Given the description of an element on the screen output the (x, y) to click on. 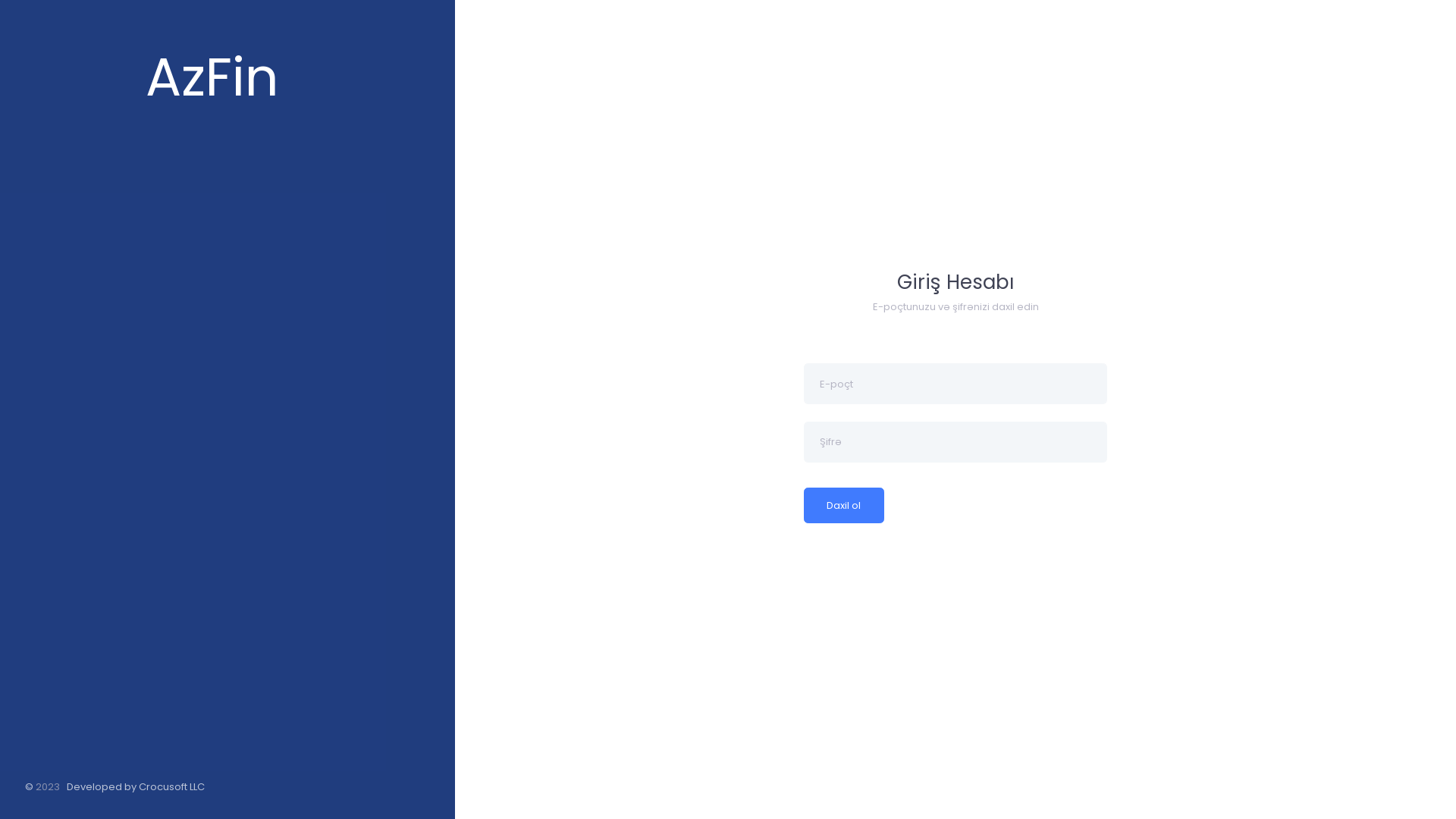
Daxil ol Element type: text (843, 505)
Developed by Crocusoft LLC Element type: text (135, 786)
AzFin Element type: text (226, 79)
